Given the description of an element on the screen output the (x, y) to click on. 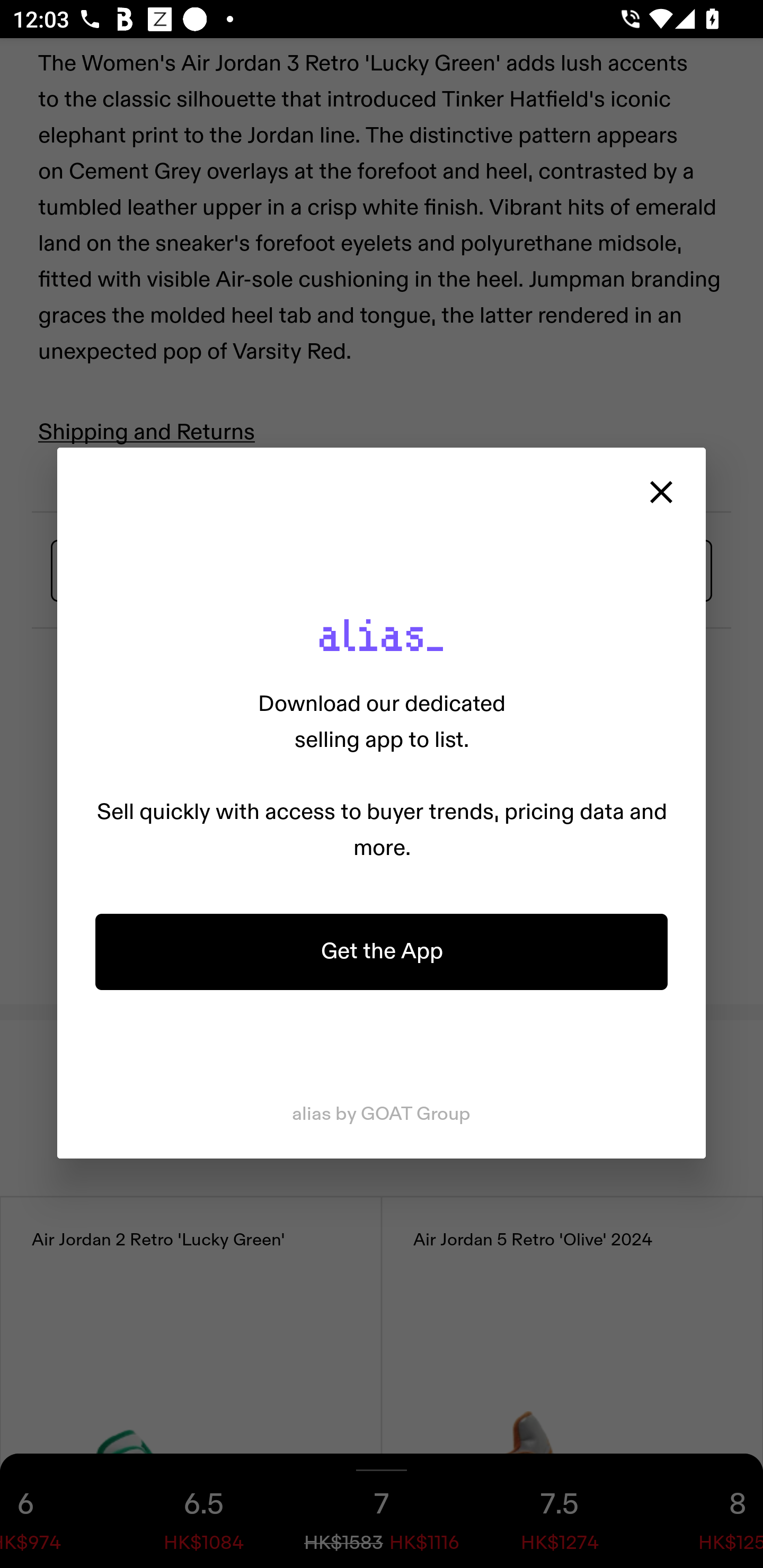
Get the App (381, 951)
